Given the description of an element on the screen output the (x, y) to click on. 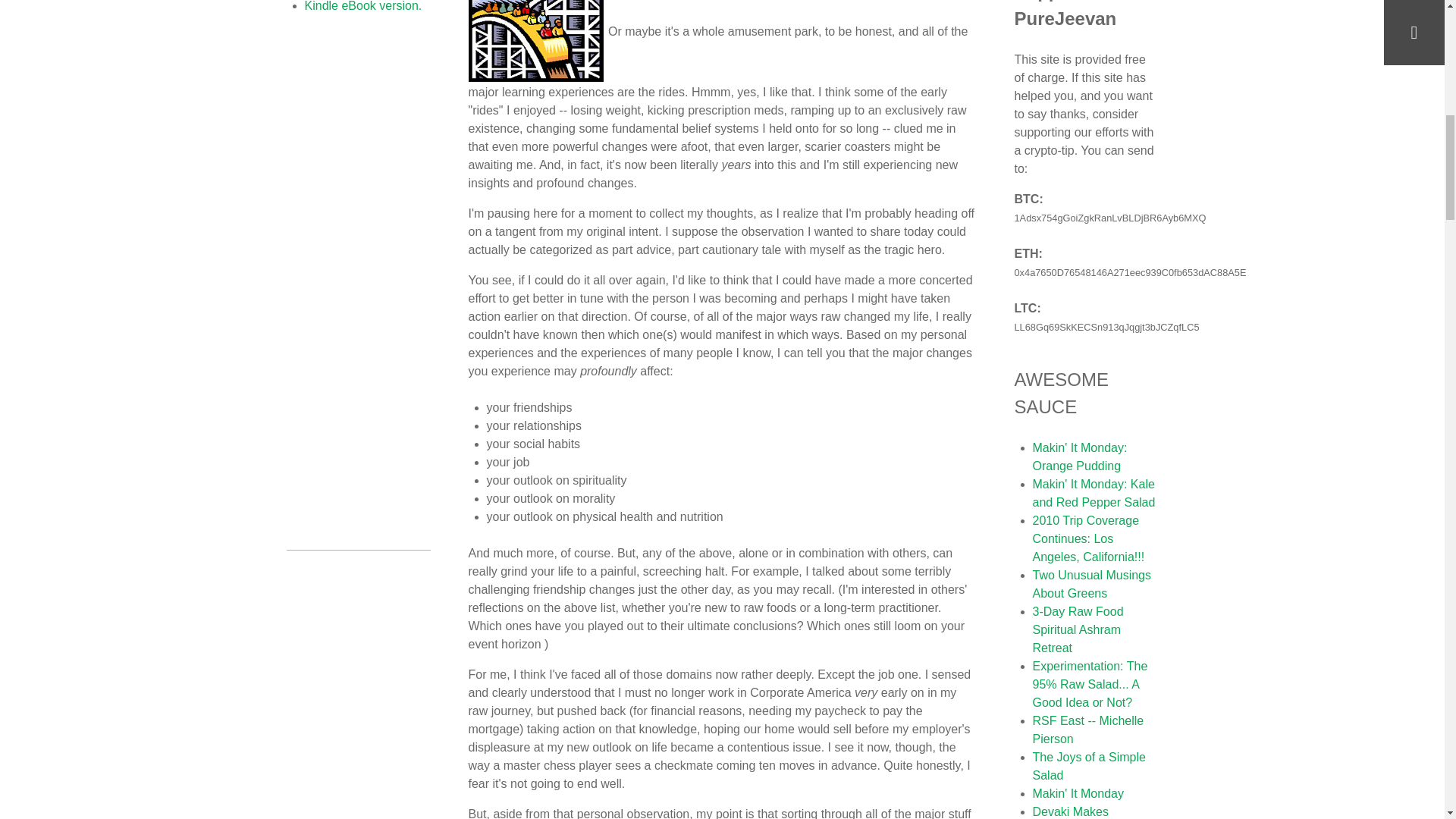
Two Unusual Musings About Greens (1091, 583)
Kindle eBook version. (363, 6)
RSF East -- Michelle Pierson (1088, 729)
2010 Trip Coverage Continues: Los Angeles, California!!! (1088, 538)
Makin' It Monday: Kale and Red Pepper Salad (1094, 492)
Makin' It Monday: Orange Pudding (1079, 456)
Makin' It Monday (1078, 793)
The Joys of a Simple Salad (1088, 766)
3-Day Raw Food Spiritual Ashram Retreat (1078, 629)
